Given the description of an element on the screen output the (x, y) to click on. 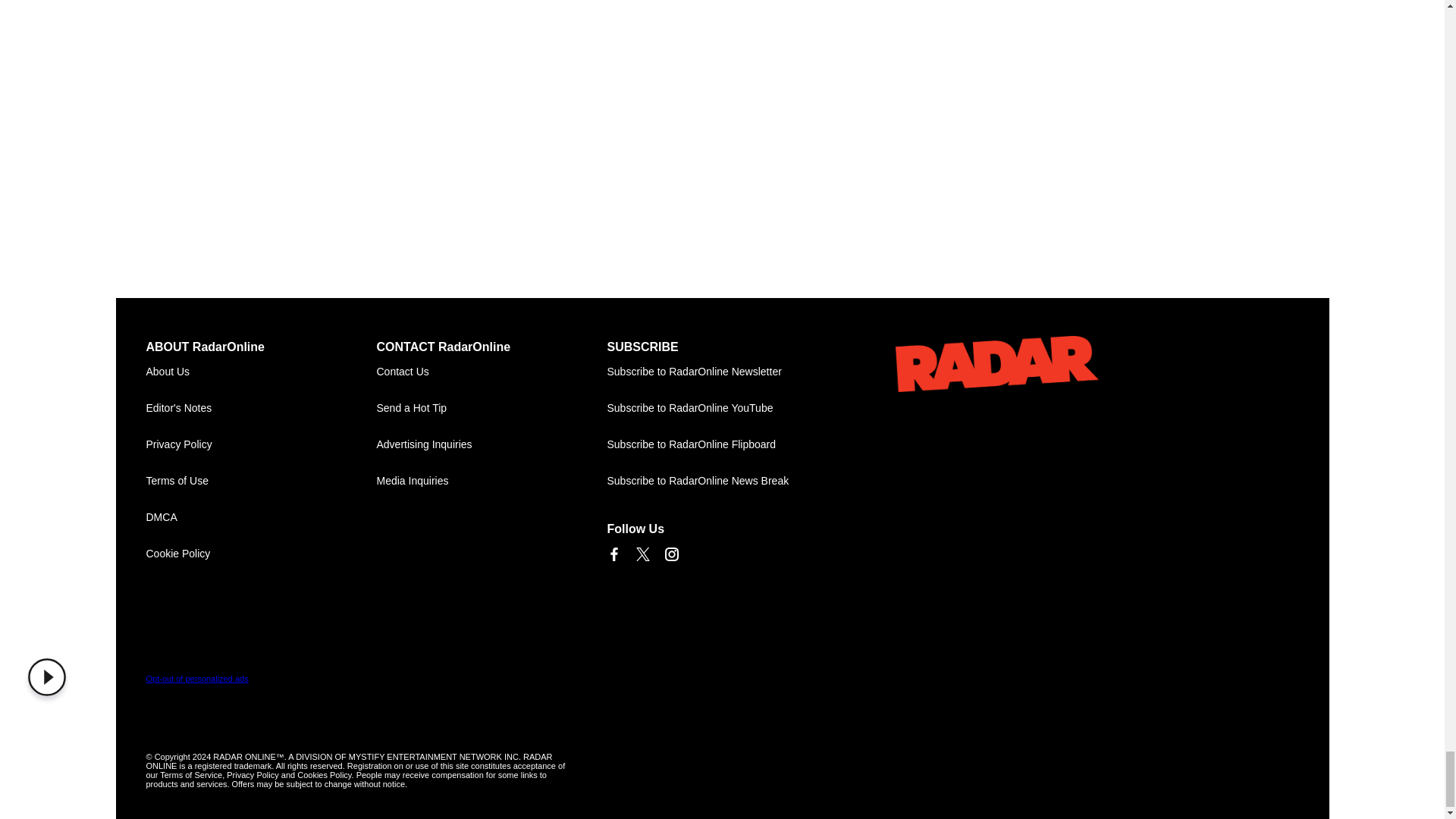
Cookie Policy (260, 554)
Contact Us (491, 371)
About Us (260, 371)
About Us (260, 371)
Privacy Policy (260, 444)
Terms of Use (260, 481)
Link to Facebook (613, 554)
Link to X (641, 554)
Editor's Notes (260, 408)
Editor's Notes (260, 408)
DMCA (260, 517)
Link to Instagram (670, 554)
Send a Hot Tip (491, 408)
